Given the description of an element on the screen output the (x, y) to click on. 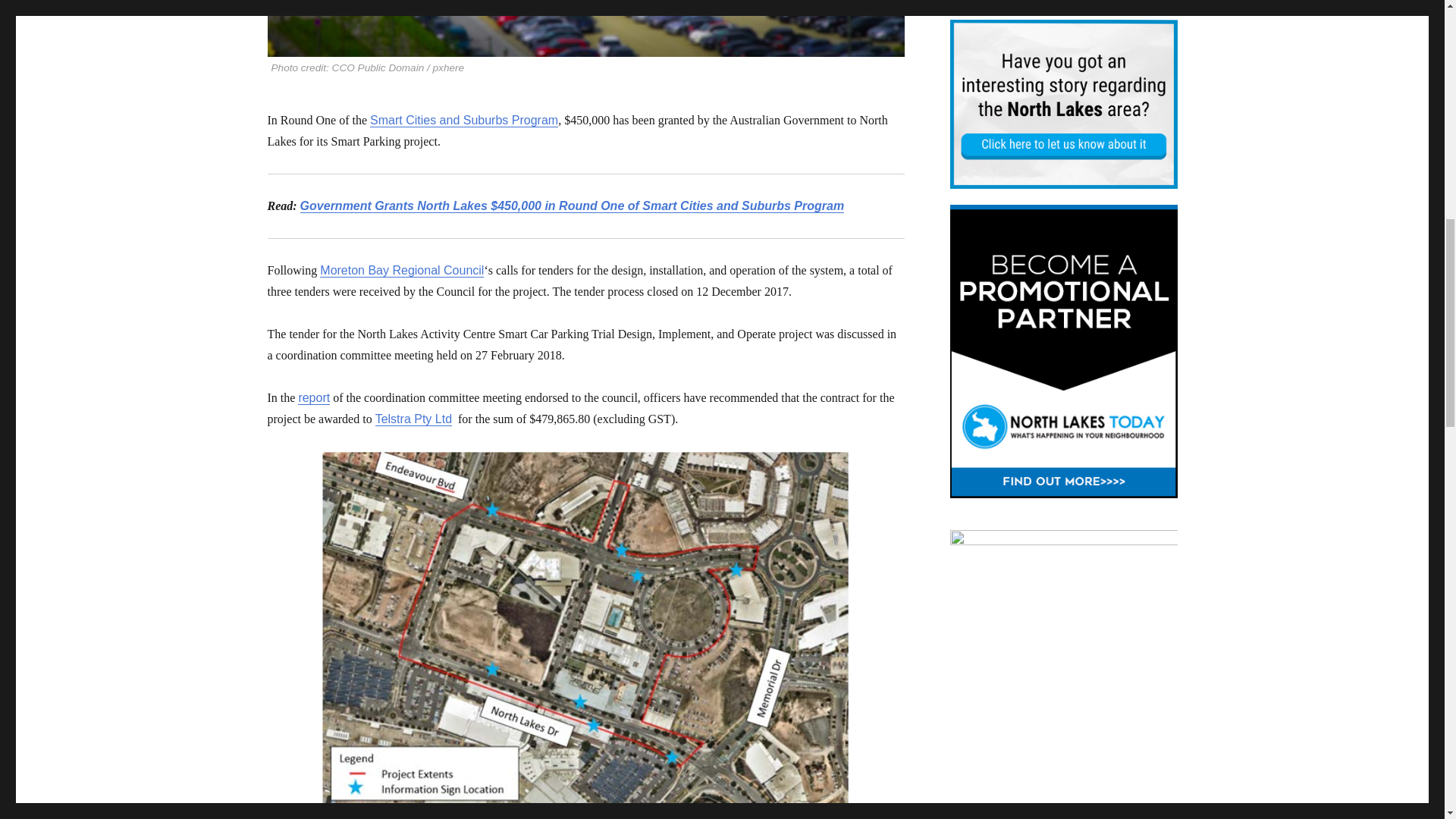
Moreton Bay Regional Council (401, 269)
Smart Cities and Suburbs Program (463, 119)
report (314, 397)
Telstra Pty Ltd (413, 418)
